Given the description of an element on the screen output the (x, y) to click on. 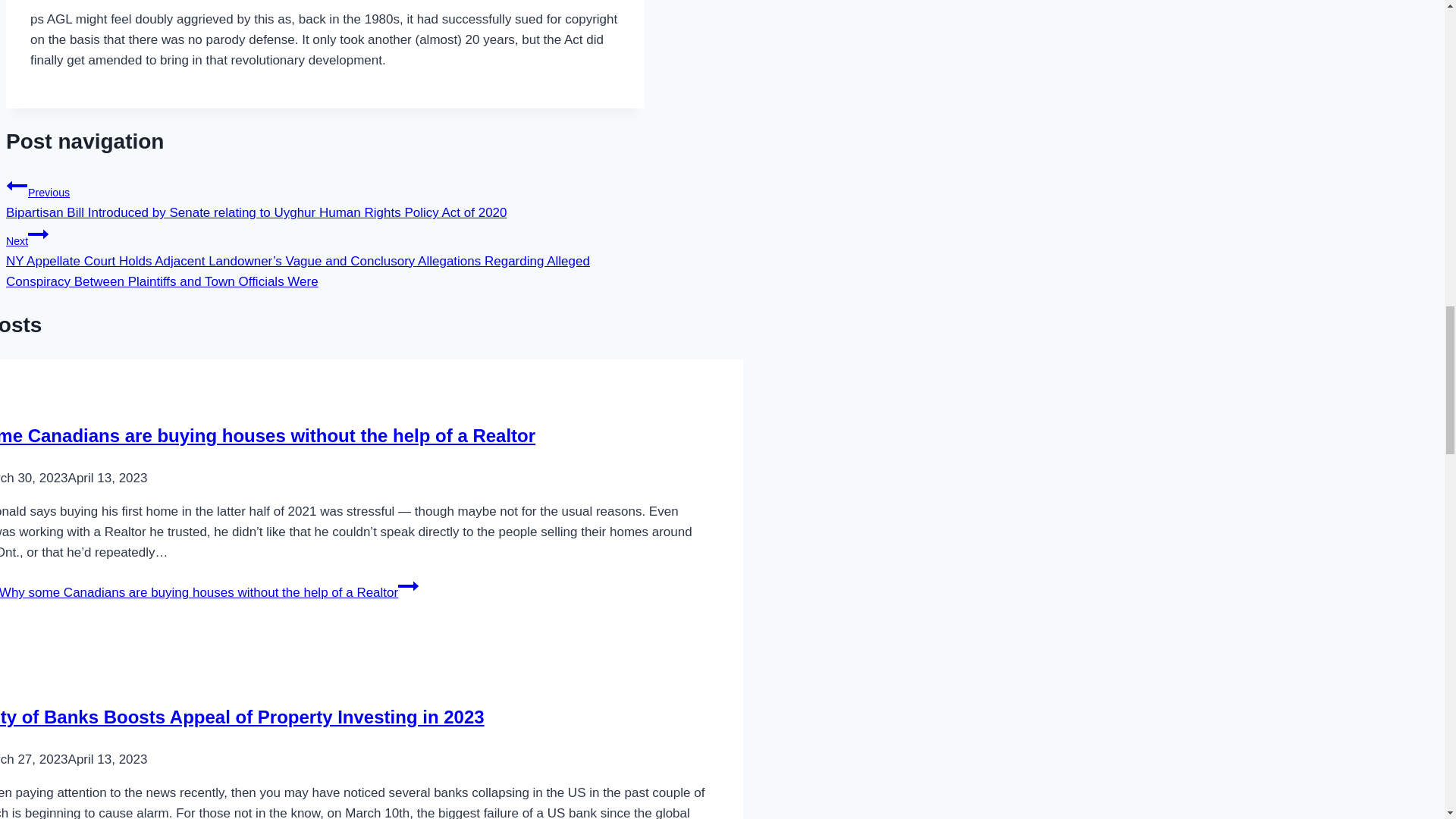
Continue (408, 586)
Previous (16, 185)
Continue (37, 233)
